Given the description of an element on the screen output the (x, y) to click on. 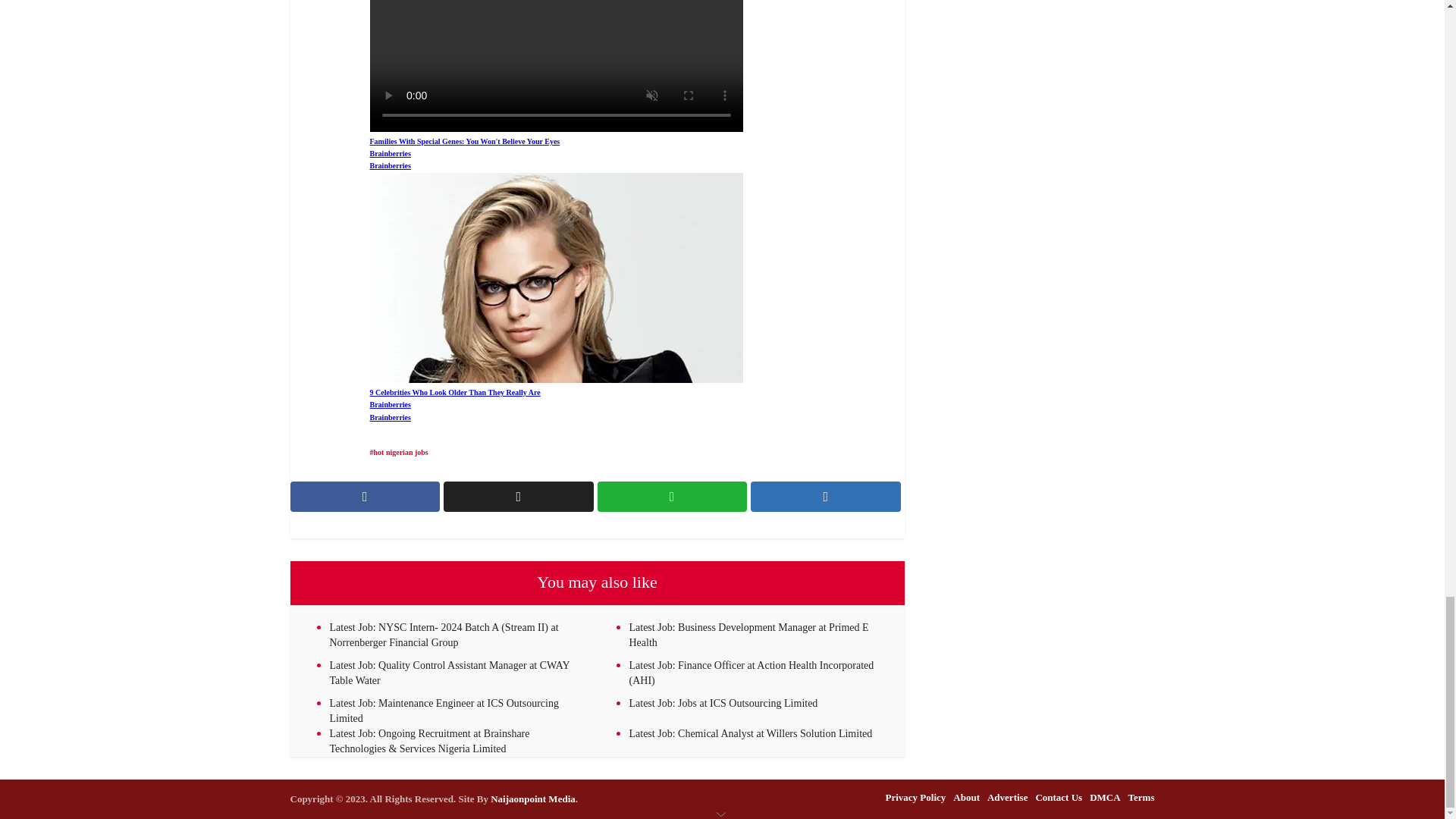
Latest Job: Maintenance Engineer at ICS Outsourcing Limited (443, 710)
Latest Job: Chemical Analyst at Willers Solution Limited (750, 733)
Latest Job: Jobs at ICS Outsourcing Limited (723, 703)
Latest Job: Business Development Manager at Primed E Health (748, 634)
